Given the description of an element on the screen output the (x, y) to click on. 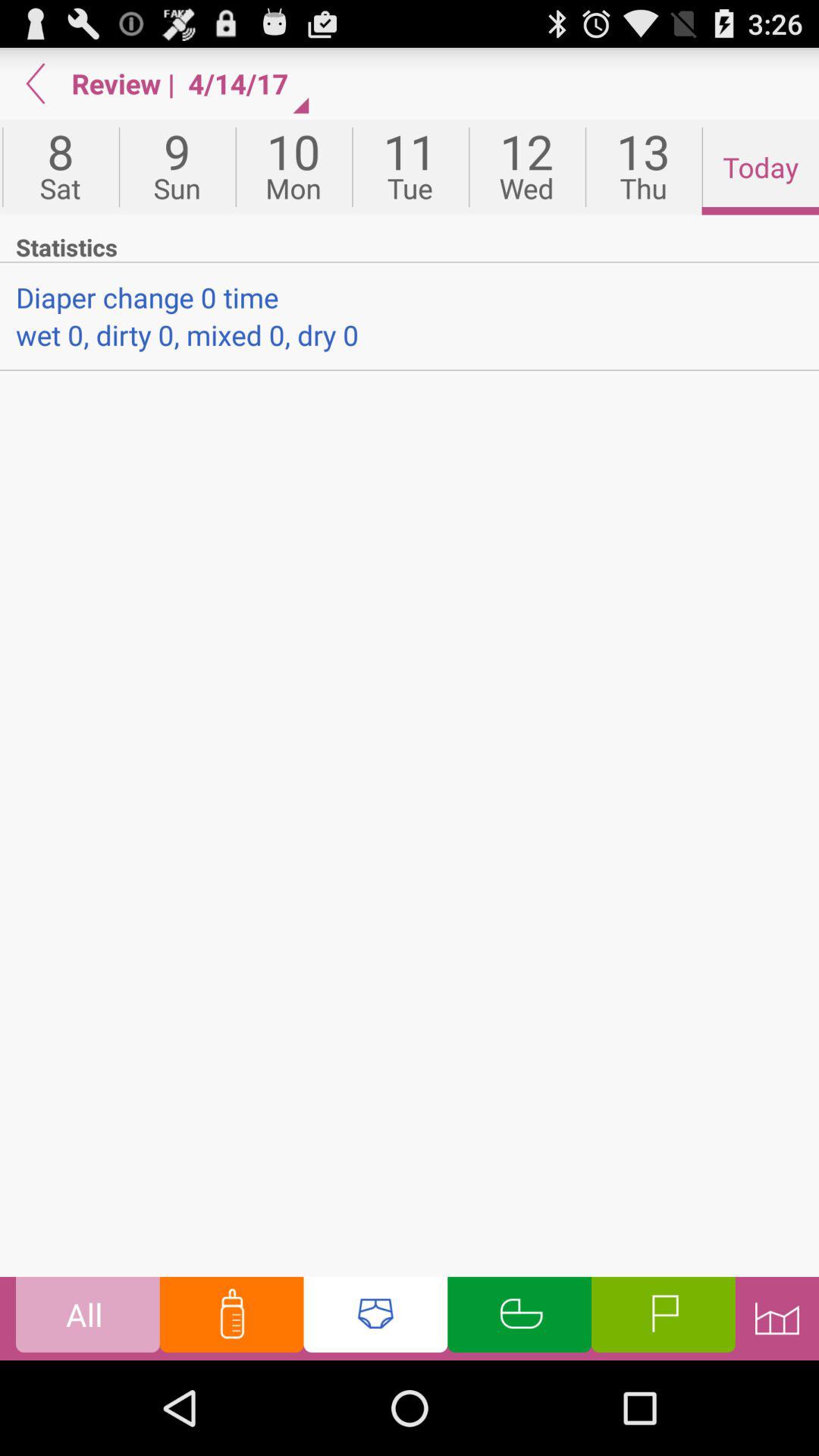
click app next to 12 item (643, 166)
